Given the description of an element on the screen output the (x, y) to click on. 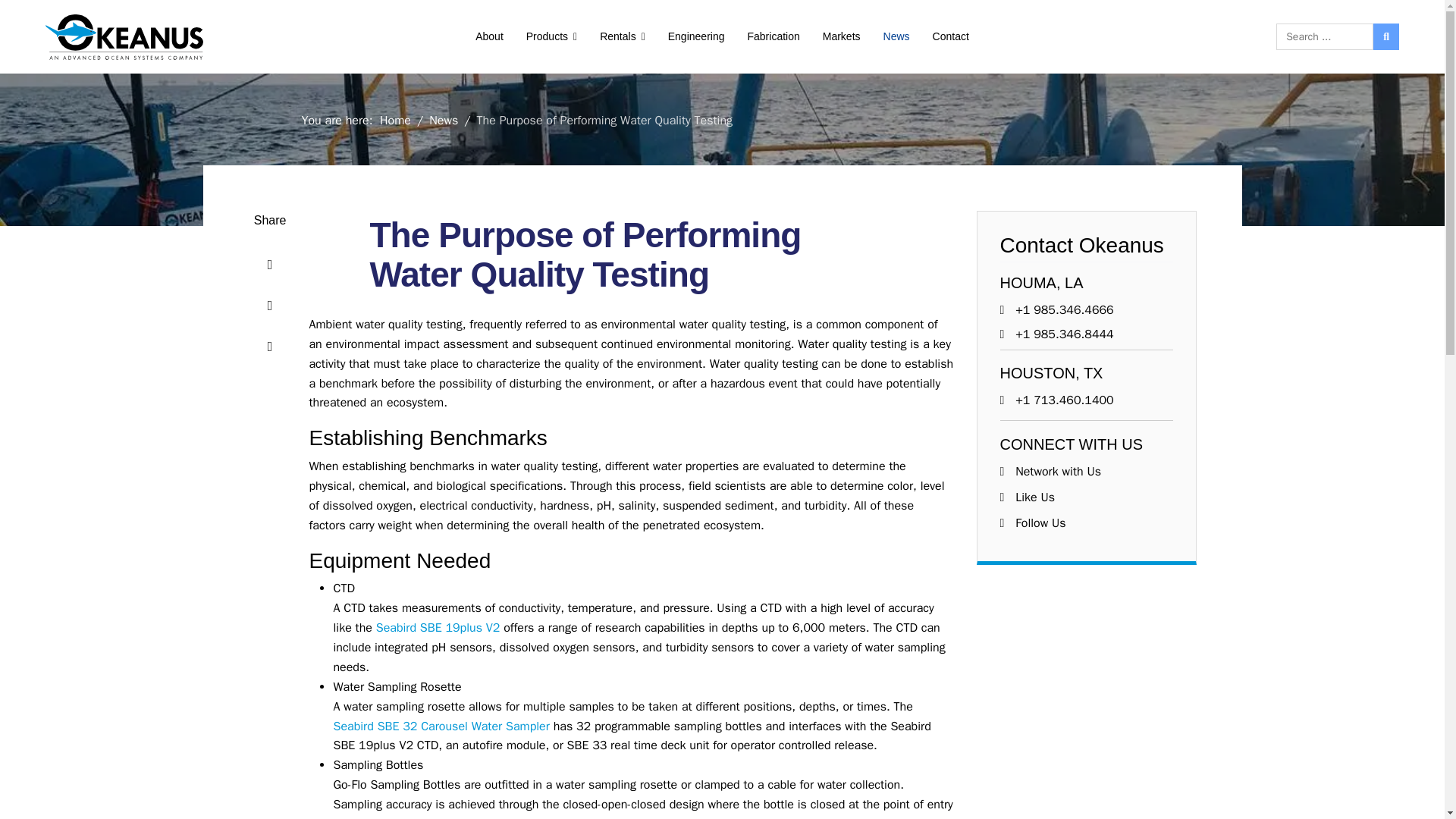
Seabird SBE 19plus V2 (437, 627)
Products (551, 36)
Home (395, 120)
Rentals (622, 36)
News (443, 120)
Fabrication (772, 36)
Engineering (696, 36)
Go (1386, 36)
Seabird SBE 32 Carousel Water Sampler (440, 726)
Fabrication (772, 36)
